Given the description of an element on the screen output the (x, y) to click on. 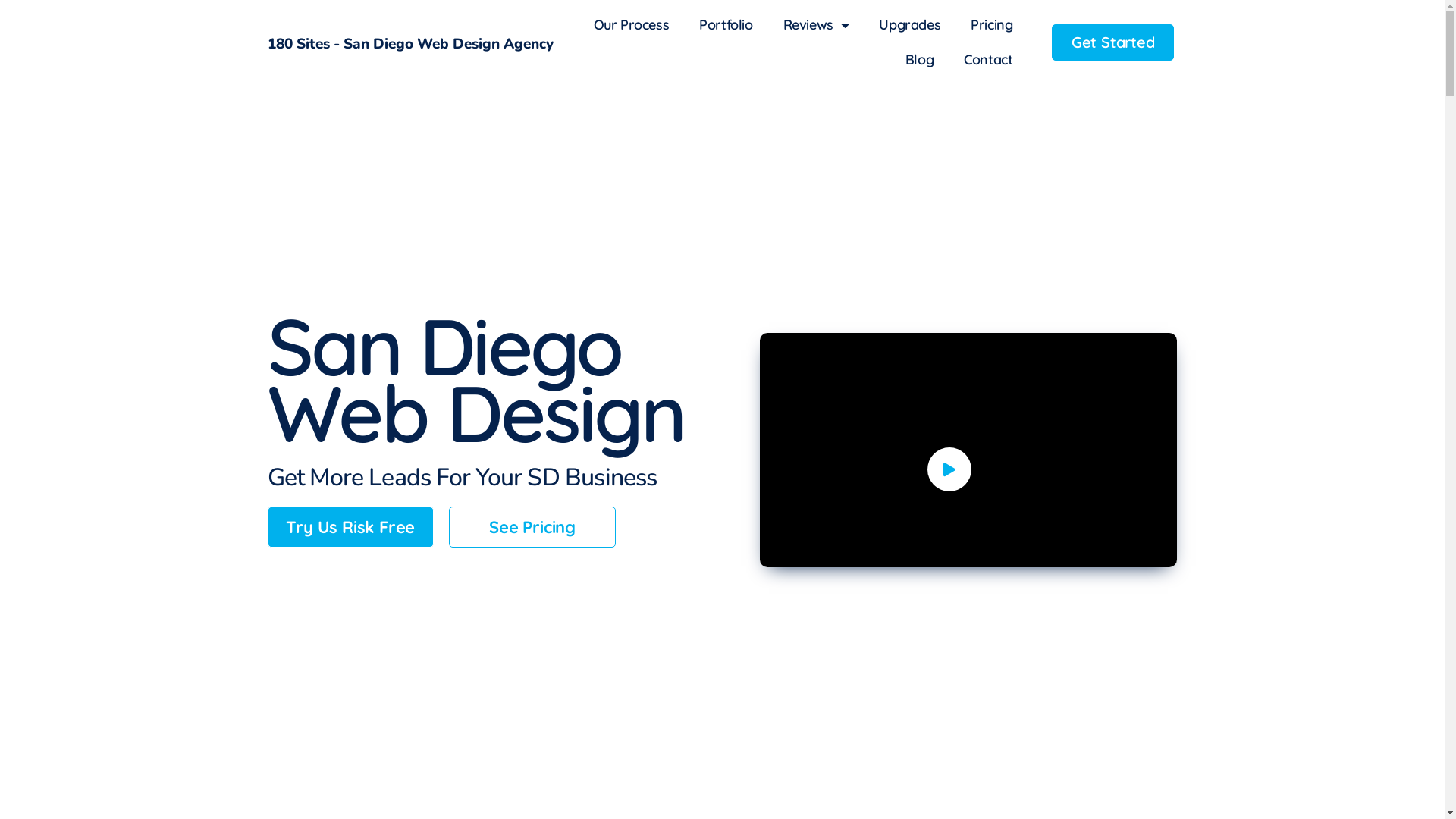
Try Us Risk Free Element type: text (349, 526)
Blog Element type: text (919, 59)
See Pricing Element type: text (531, 526)
Contact Element type: text (987, 59)
30-Day Money-Back Guarantee Element type: text (376, 578)
Portfolio Element type: text (725, 24)
Upgrades Element type: text (909, 24)
Get Started Element type: text (1112, 42)
Our Process Element type: text (631, 24)
Pricing Element type: text (991, 24)
Reviews Element type: text (816, 24)
